Given the description of an element on the screen output the (x, y) to click on. 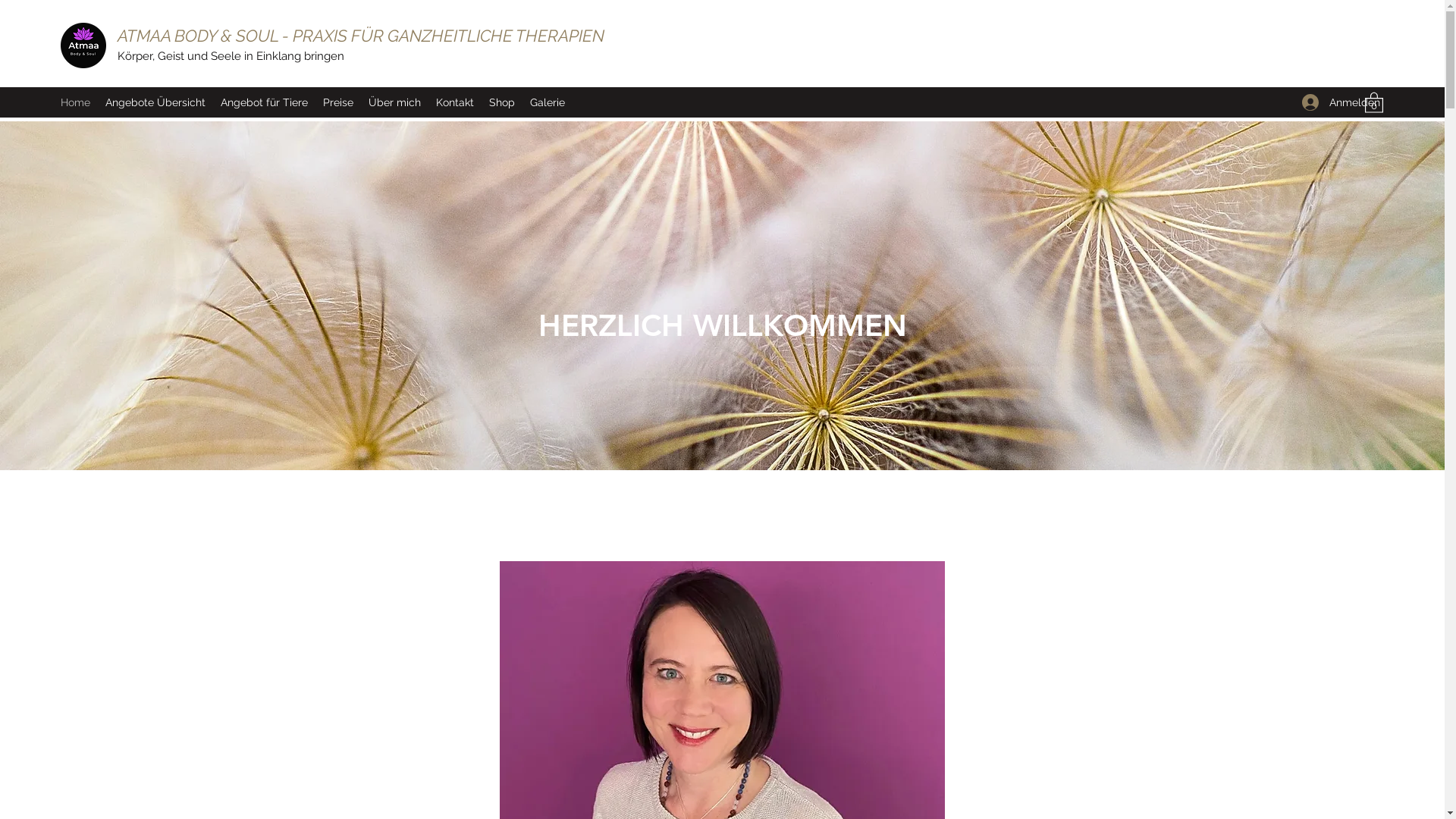
Kontakt Element type: text (454, 102)
Preise Element type: text (337, 102)
Shop Element type: text (501, 102)
0 Element type: text (1374, 101)
Home Element type: text (75, 102)
Galerie Element type: text (547, 102)
Anmelden Element type: text (1325, 102)
